Given the description of an element on the screen output the (x, y) to click on. 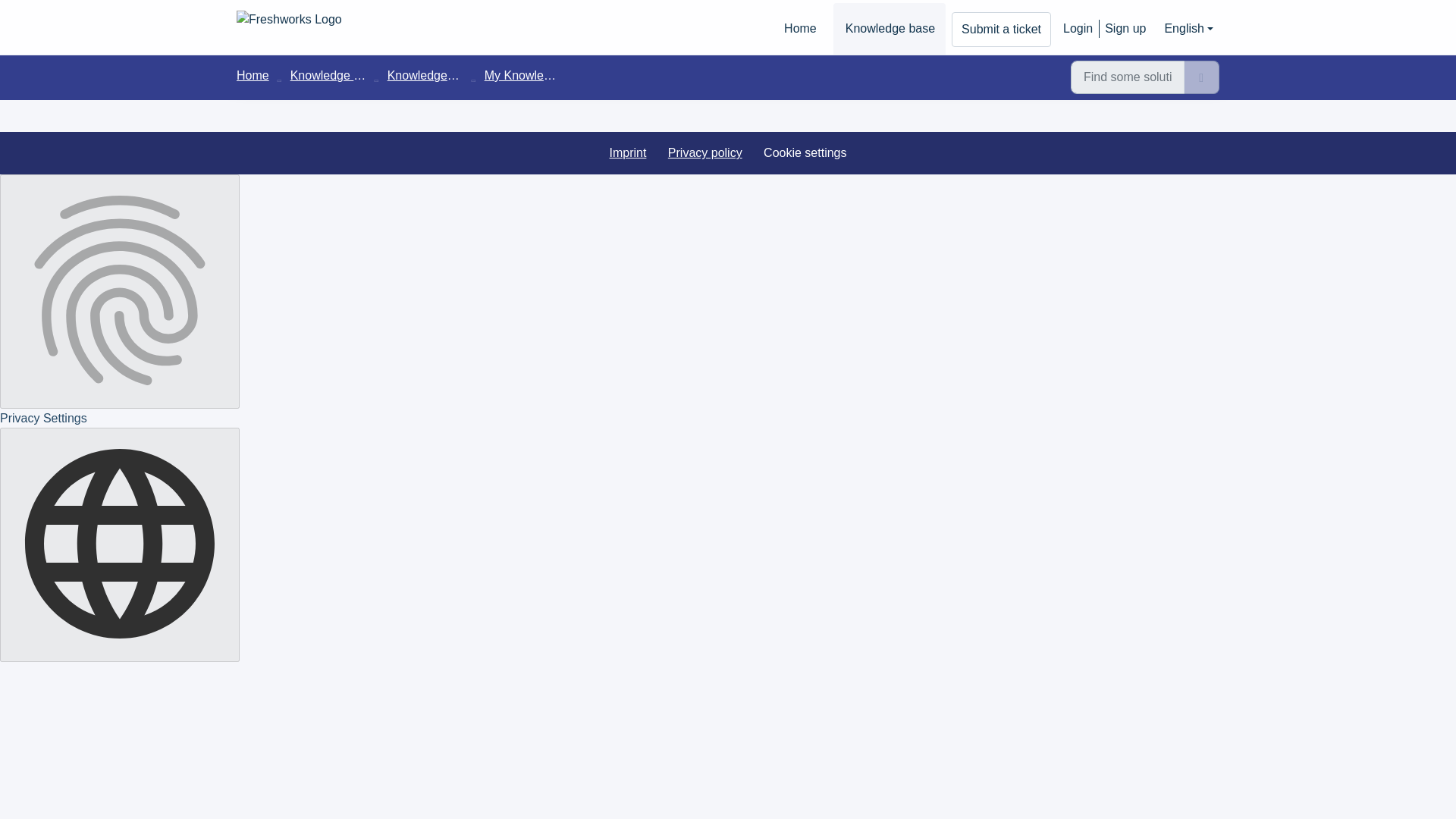
Access code for Knowledgeworker Cards is not working (1102, 36)
Yes (710, 12)
No (640, 12)
Two-Factor Authentication (1102, 5)
